Given the description of an element on the screen output the (x, y) to click on. 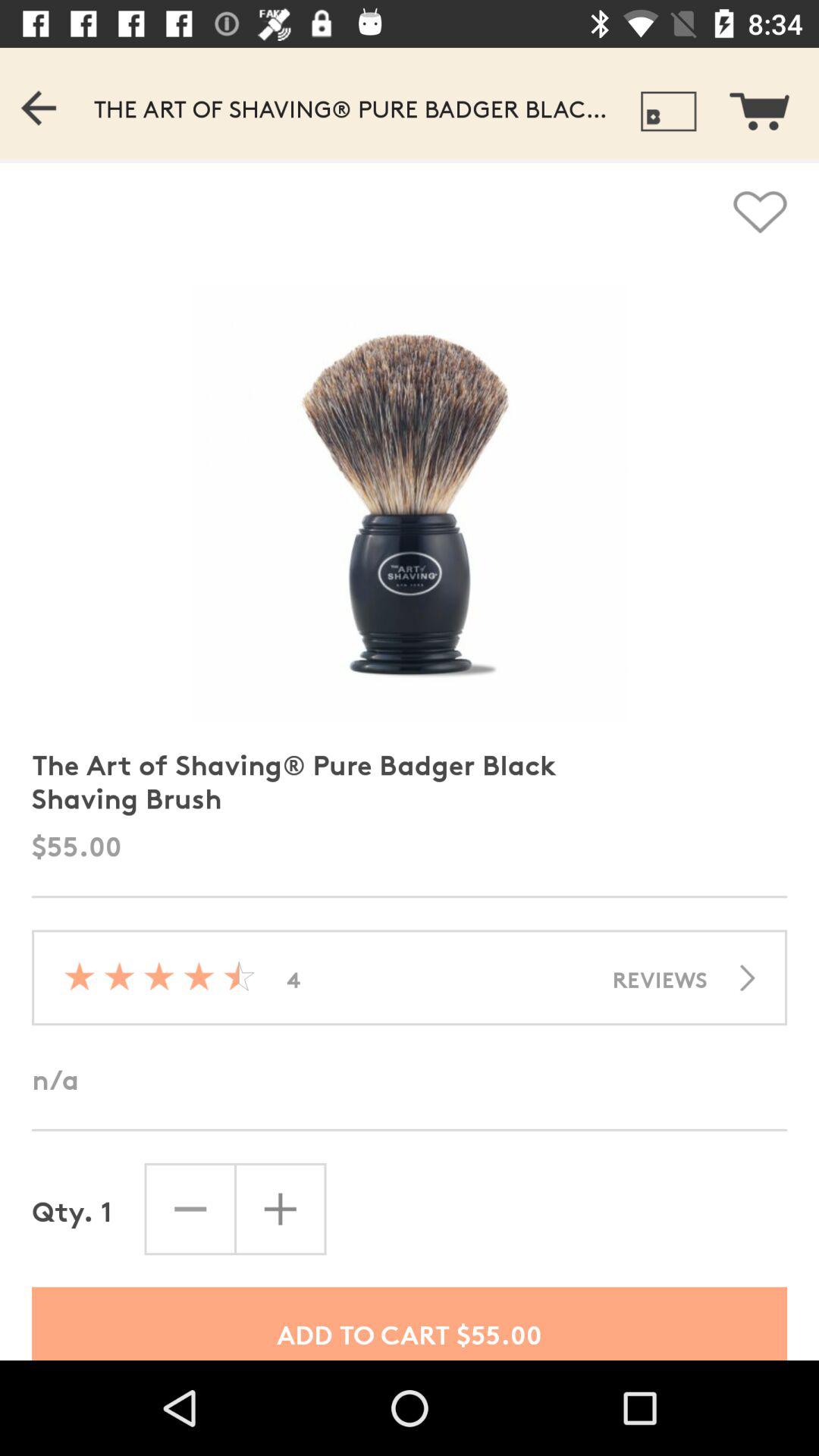
select the previous bar (69, 103)
